Given the description of an element on the screen output the (x, y) to click on. 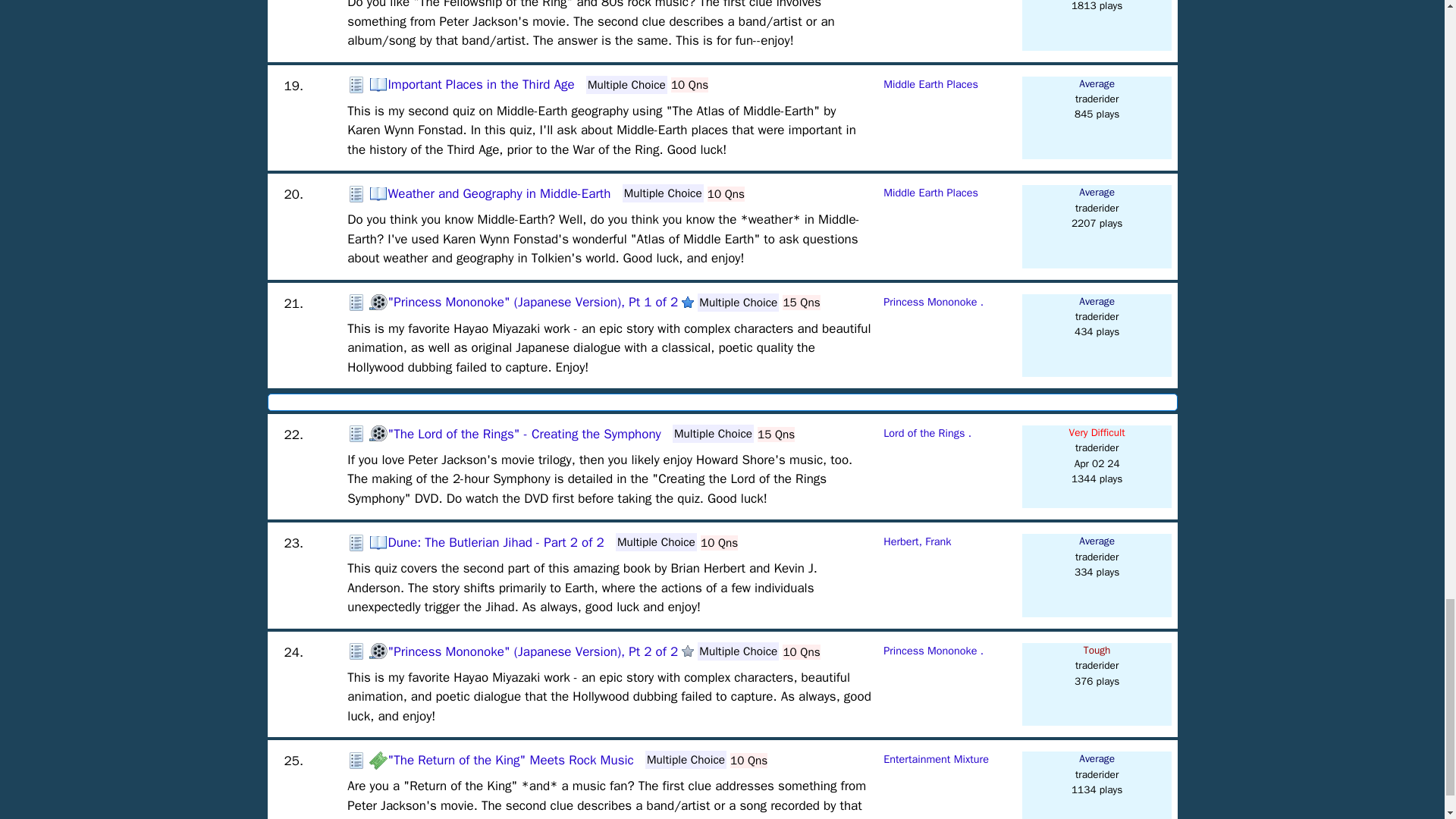
A well rated quiz (687, 302)
